Given the description of an element on the screen output the (x, y) to click on. 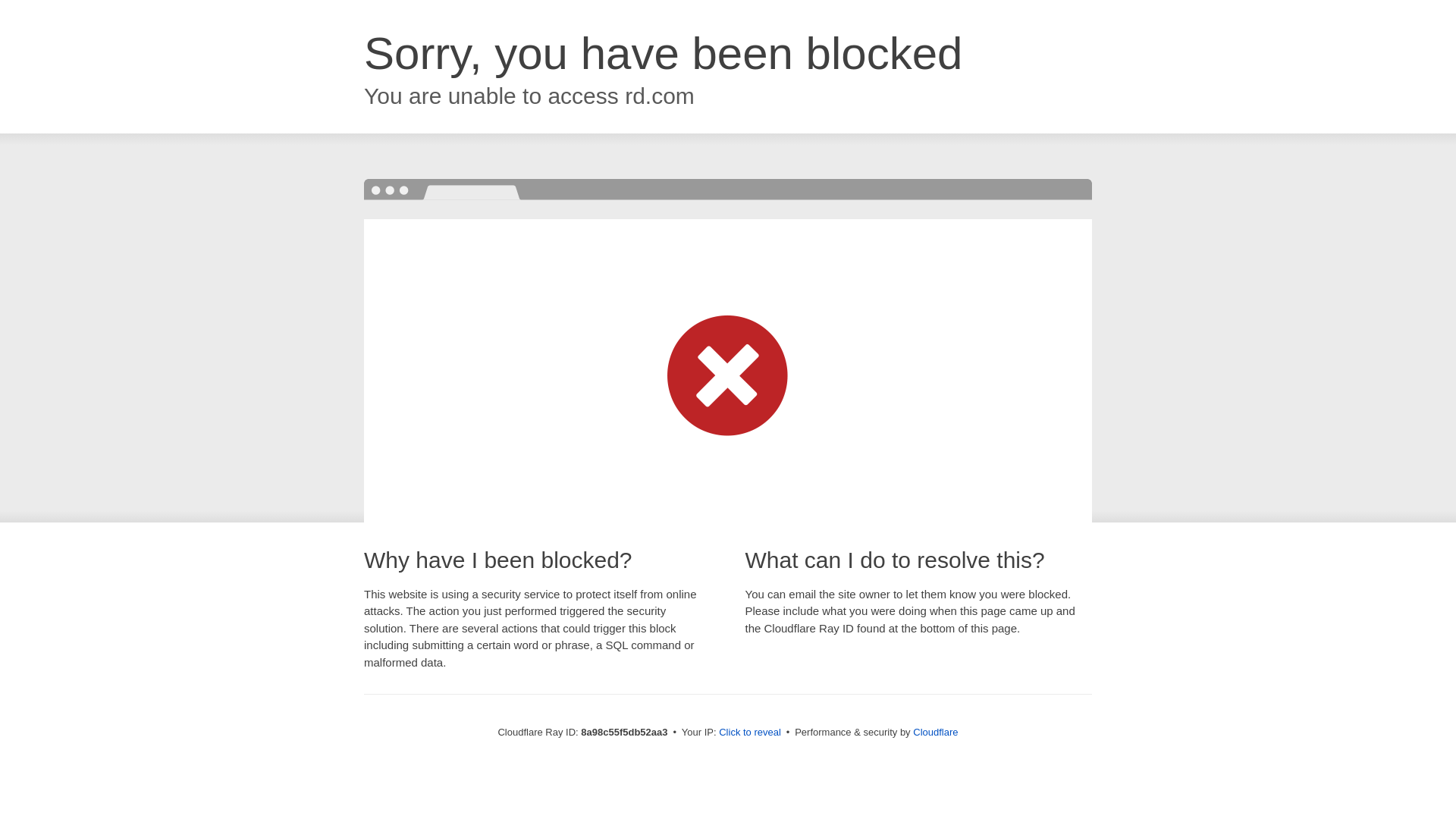
Click to reveal (749, 732)
Cloudflare (935, 731)
